Given the description of an element on the screen output the (x, y) to click on. 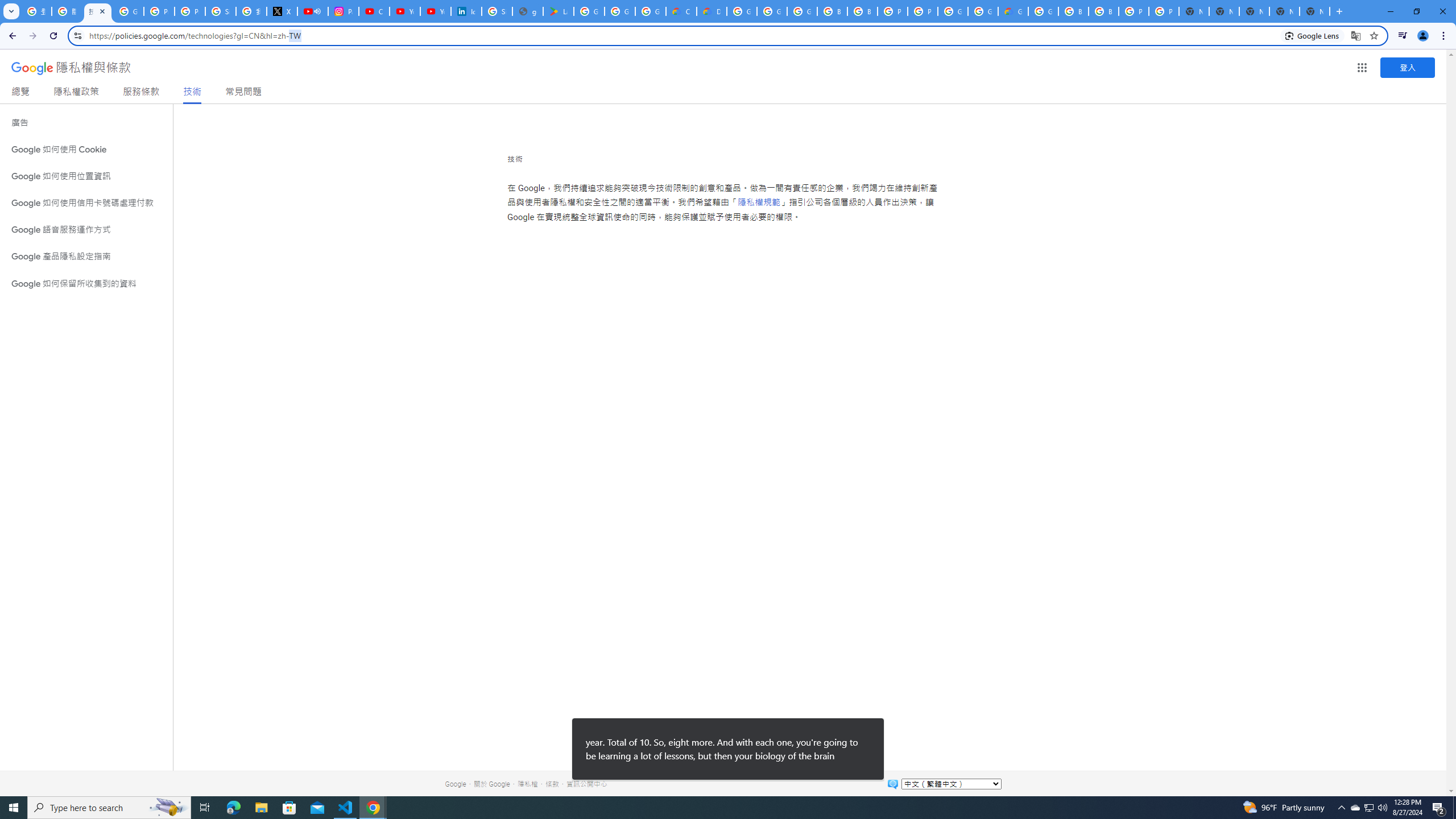
Translate this page (1355, 35)
google_privacy_policy_en.pdf (527, 11)
Google Cloud Platform (982, 11)
Google Cloud Platform (952, 11)
